Given the description of an element on the screen output the (x, y) to click on. 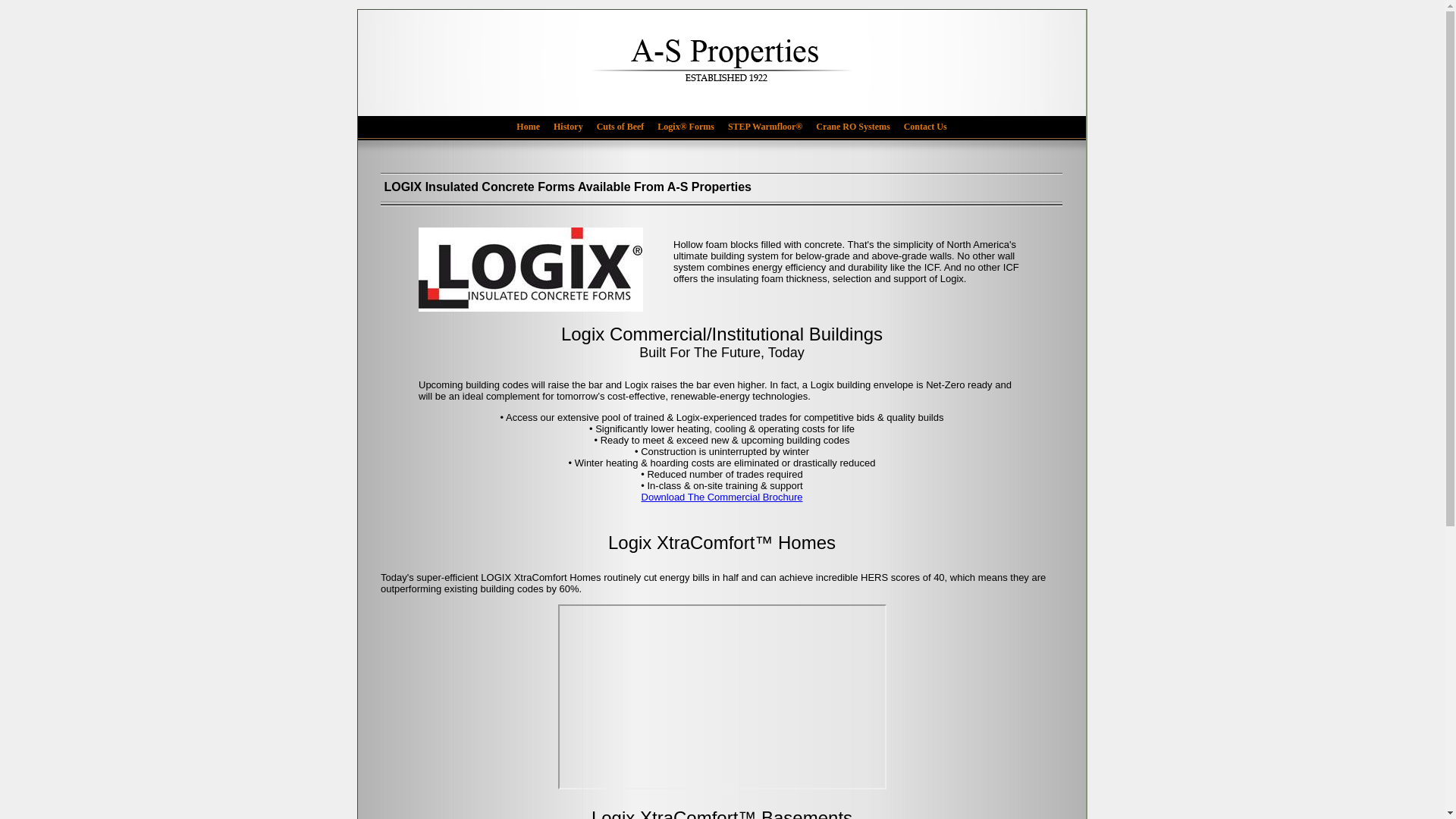
Download The Commercial Brochure Element type: text (722, 496)
Home Element type: text (533, 126)
Cuts of Beef Element type: text (625, 126)
History Element type: text (573, 126)
Contact Us Element type: text (930, 126)
Crane RO Systems Element type: text (857, 126)
